Given the description of an element on the screen output the (x, y) to click on. 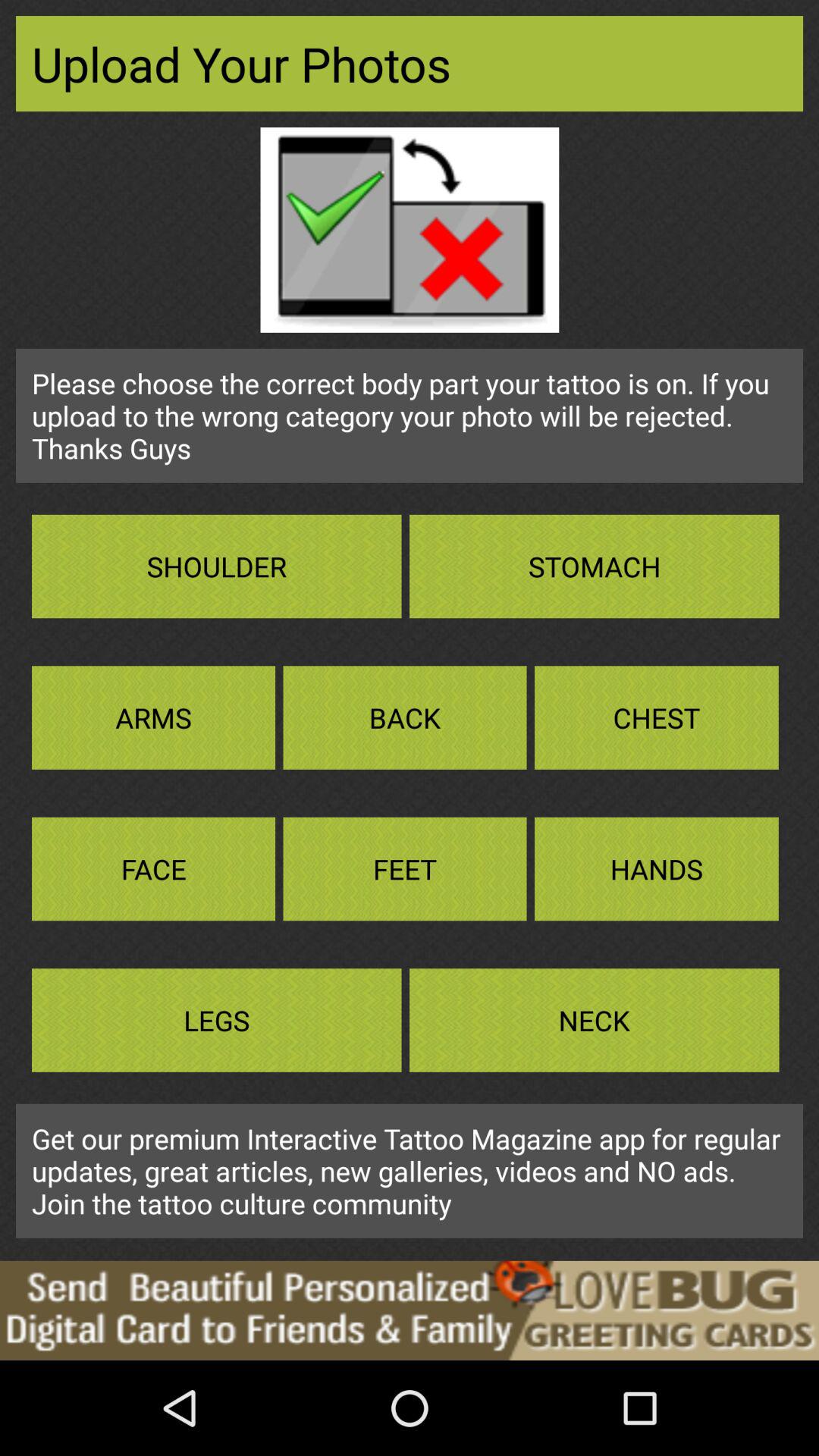
click on advertisements (409, 1310)
